Given the description of an element on the screen output the (x, y) to click on. 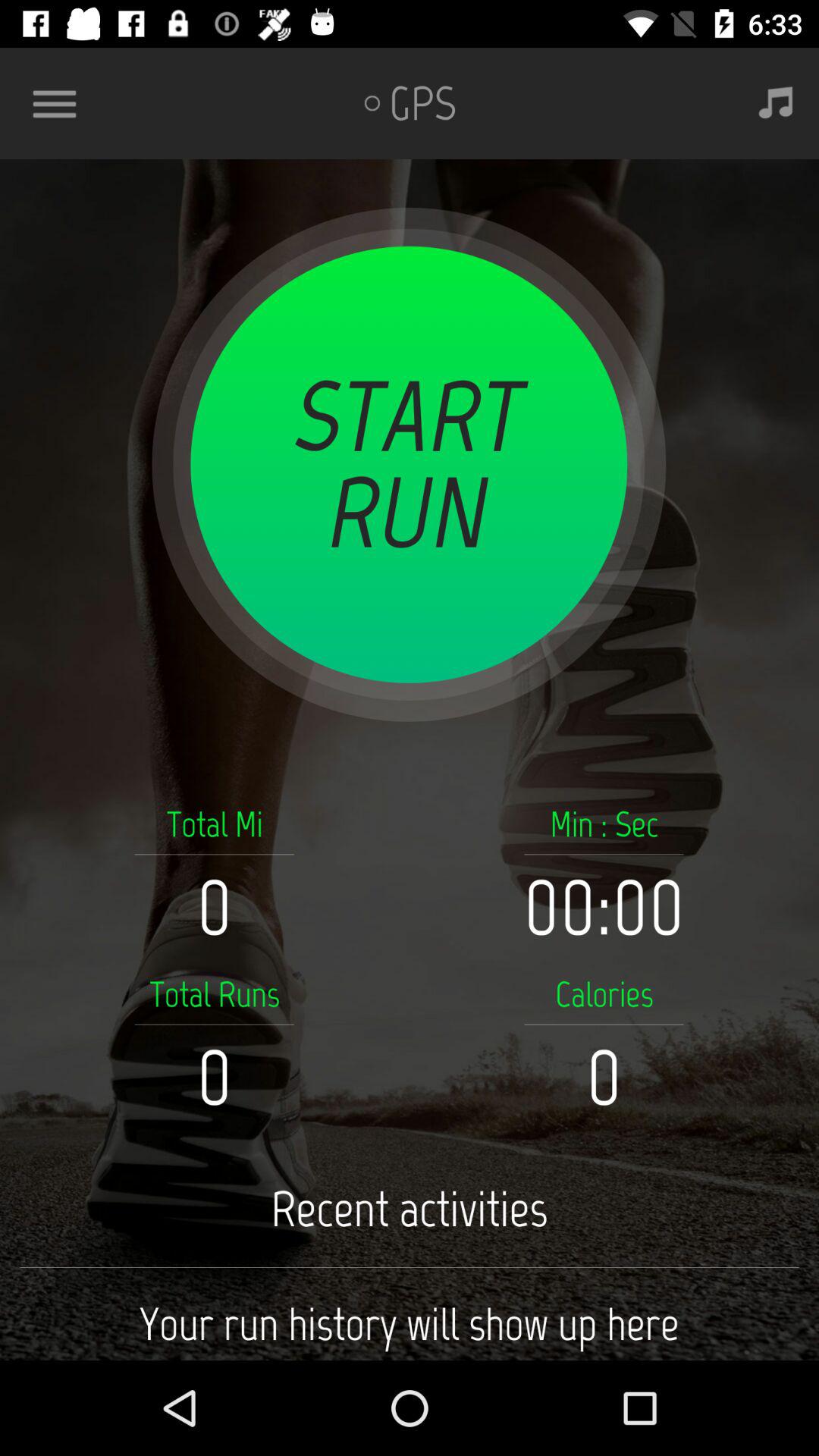
choose icon at the top right corner (776, 103)
